Given the description of an element on the screen output the (x, y) to click on. 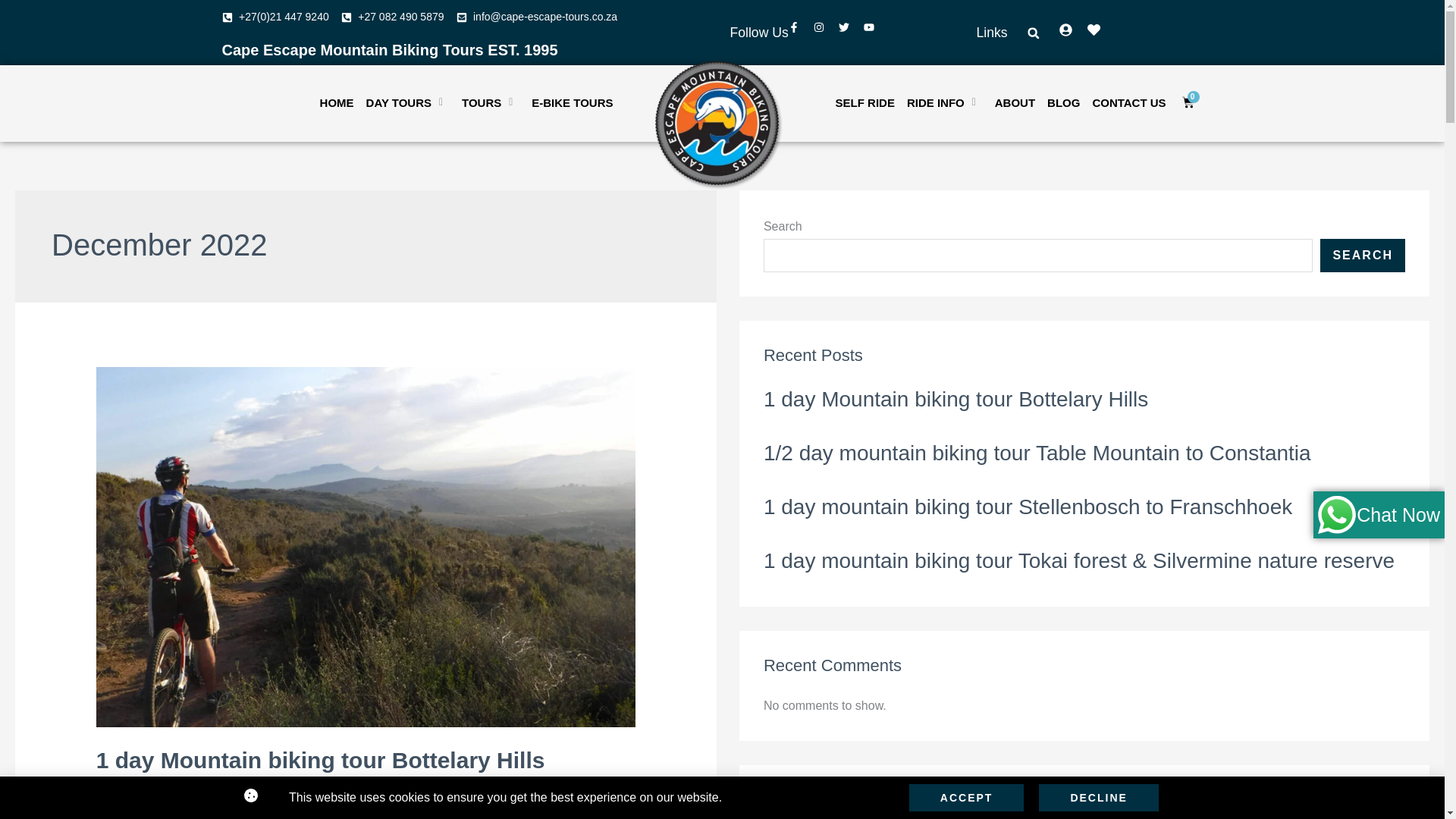
Instagram (823, 32)
View all posts by edge (526, 799)
Youtube (874, 32)
HOME (330, 102)
Facebook-f (799, 32)
Twitter (849, 32)
